Given the description of an element on the screen output the (x, y) to click on. 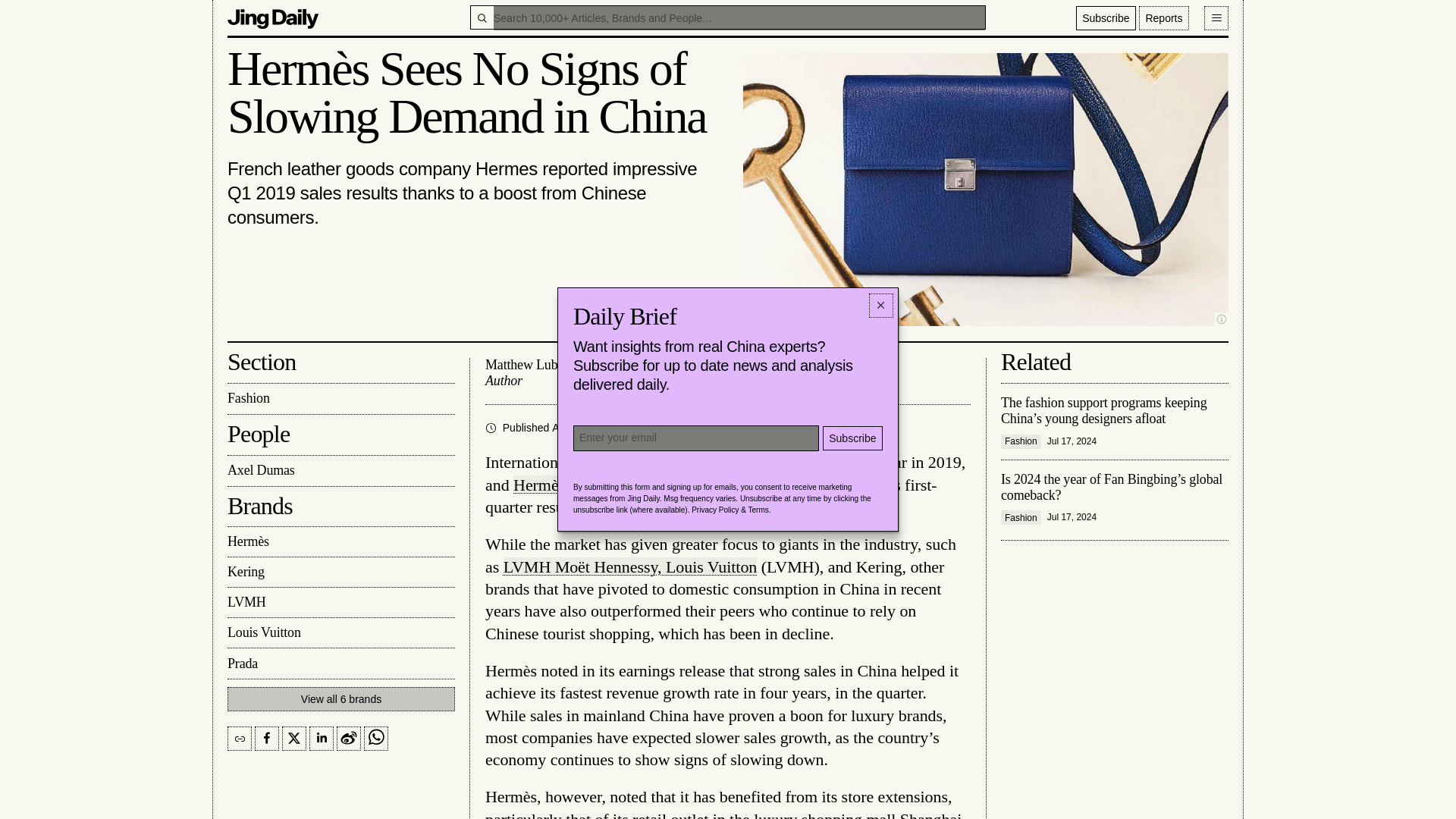
View all 6 brands (340, 699)
Jing Daily (272, 17)
Louis Vuitton (340, 633)
Louis Vuitton (340, 633)
Fashion (340, 399)
Reports (1163, 17)
Prada (340, 663)
Reports (1163, 17)
Fashion (653, 427)
Axel Dumas (340, 470)
Fashion (653, 427)
Kering (340, 572)
LVMH (340, 603)
Subscribe (1105, 17)
Axel Dumas (340, 470)
